Given the description of an element on the screen output the (x, y) to click on. 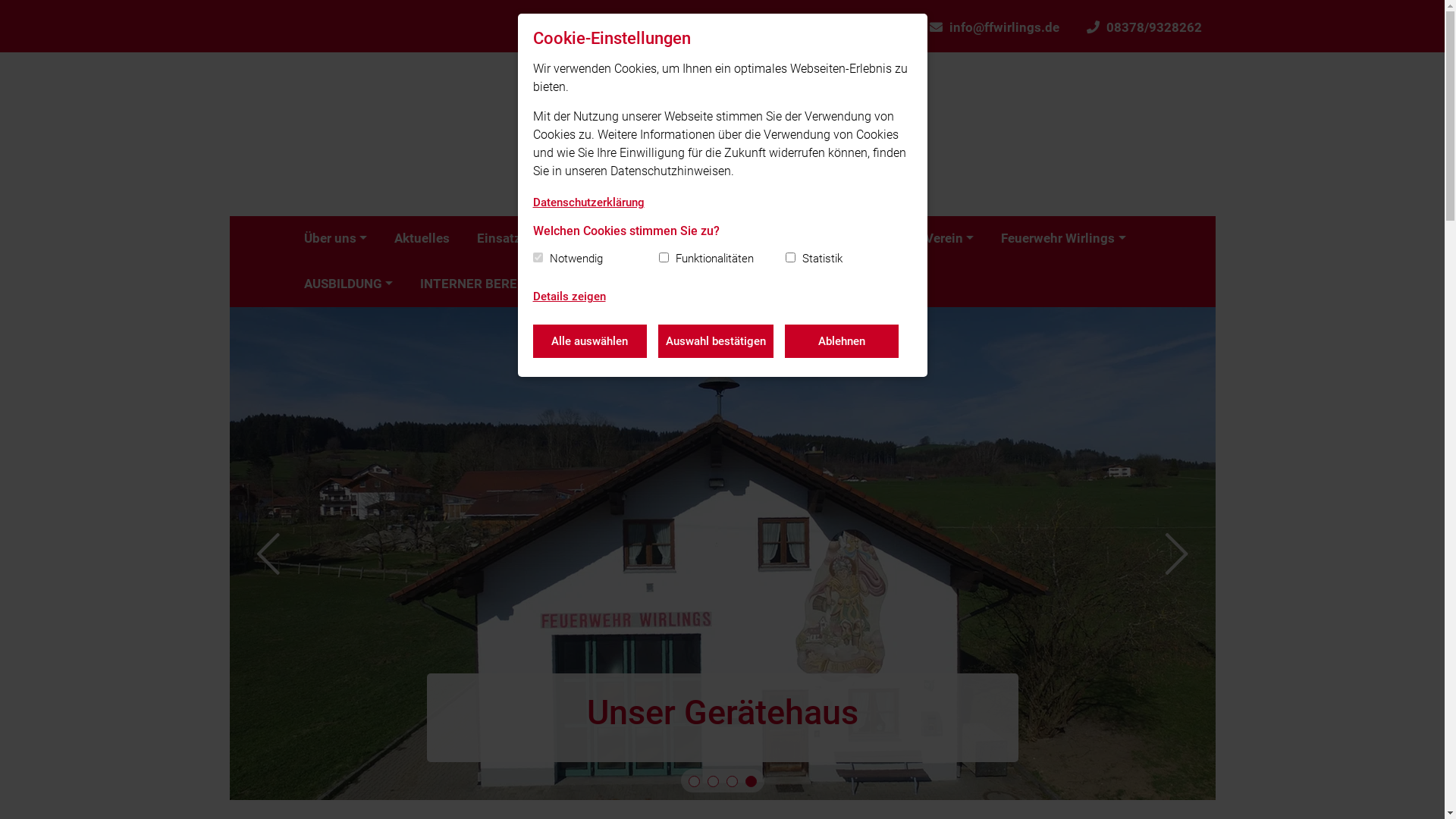
Aktuelles Element type: text (421, 238)
Termine Element type: text (620, 238)
Feuerwehr Wirlings Element type: text (1063, 238)
AUSBILDUNG Element type: text (347, 284)
info@ffwirlings.de Element type: text (994, 25)
Ablehnen Element type: text (840, 340)
Details zeigen Element type: text (568, 296)
08378/9328262 Element type: text (1143, 25)
Einsatzberichte Element type: text (523, 238)
Verein Element type: text (949, 238)
Jugend Element type: text (875, 238)
Freiwillige Feuerwehr Wirlings e.V. Element type: text (722, 133)
INTERNER BEREICH Element type: text (484, 284)
